Given the description of an element on the screen output the (x, y) to click on. 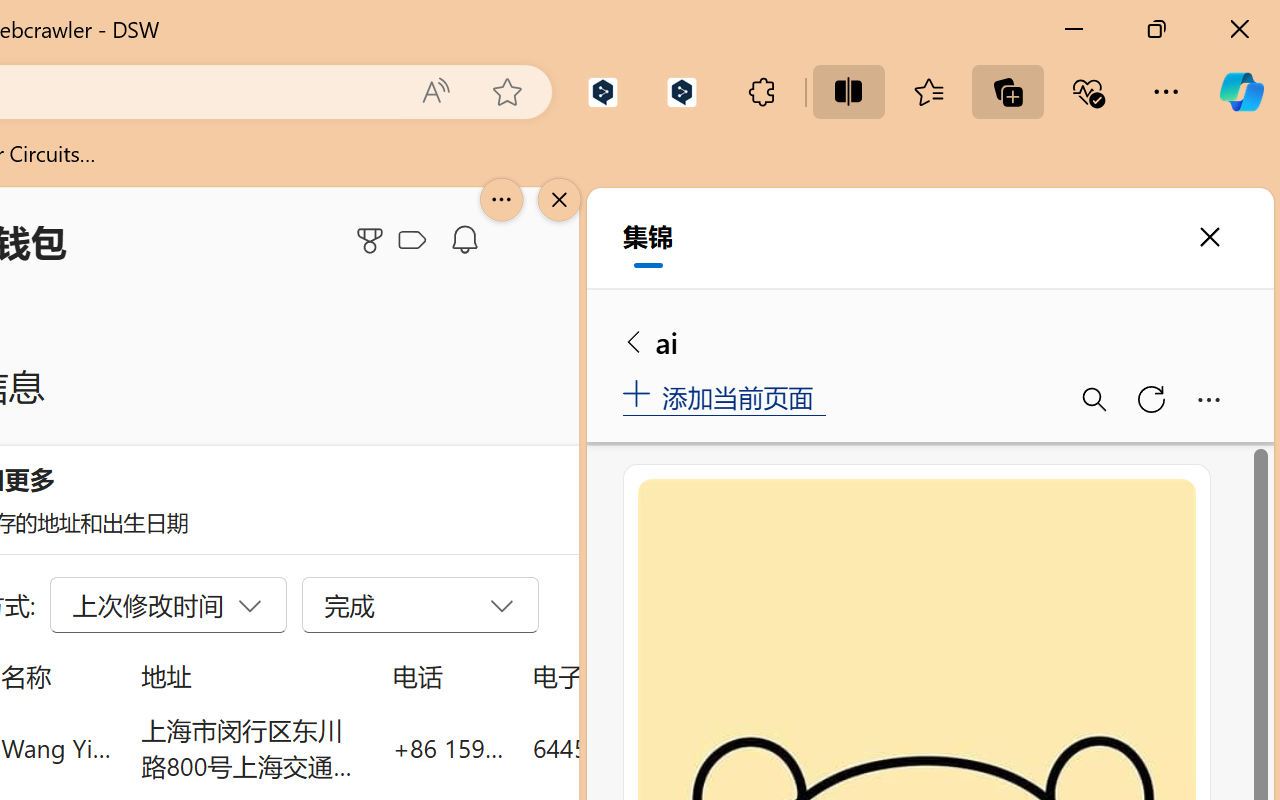
+86 159 0032 4640 (447, 747)
Microsoft Cashback (415, 241)
Copilot (Ctrl+Shift+.) (1241, 91)
